Given the description of an element on the screen output the (x, y) to click on. 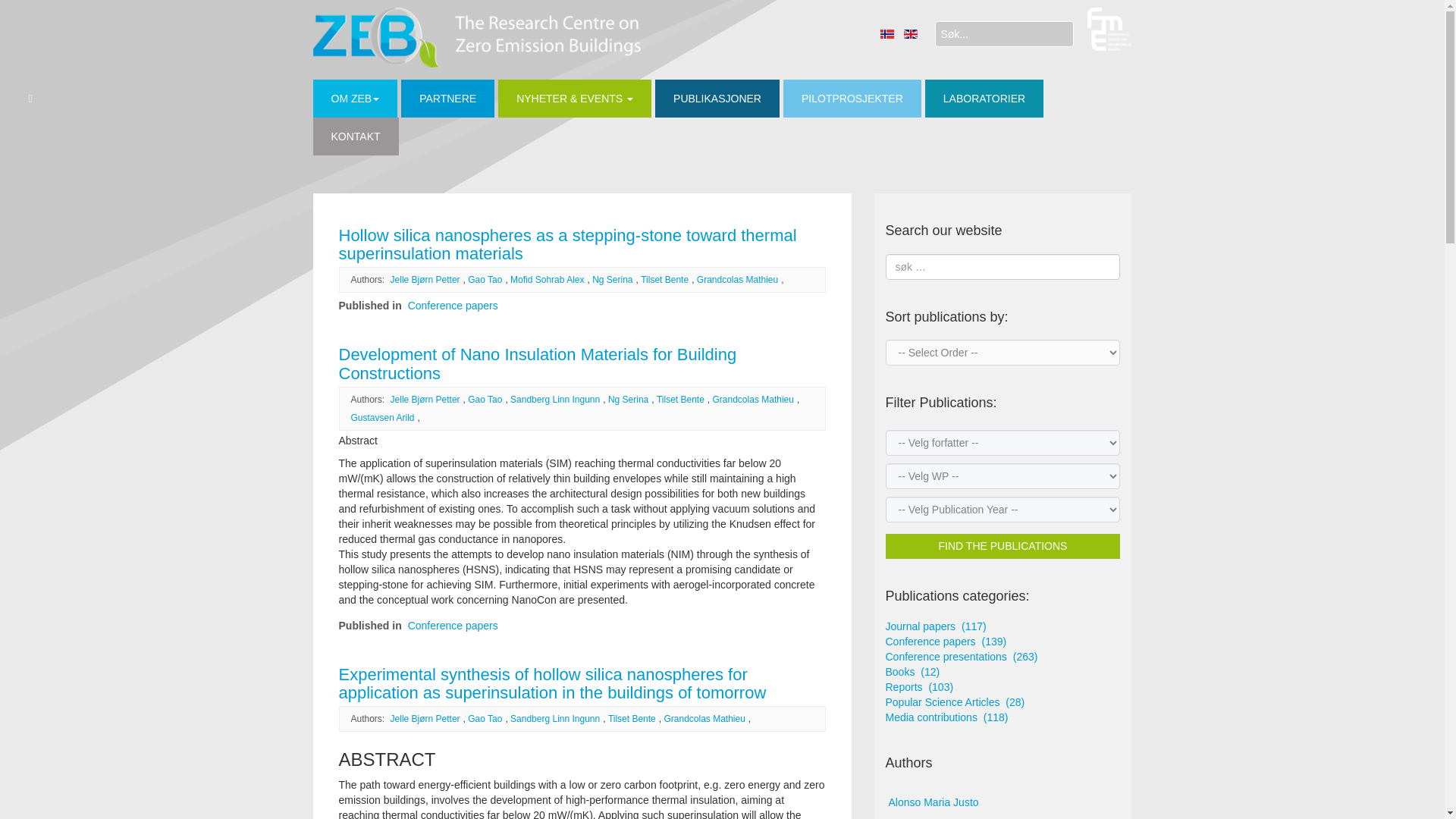
ZEB (476, 37)
47 items tagged with Andresen Inger (1003, 816)
OM ZEB (355, 98)
PARTNERE (448, 98)
13 items tagged with Alonso Maria Justo (1003, 803)
FIND THE PUBLICATIONS (1003, 545)
